Given the description of an element on the screen output the (x, y) to click on. 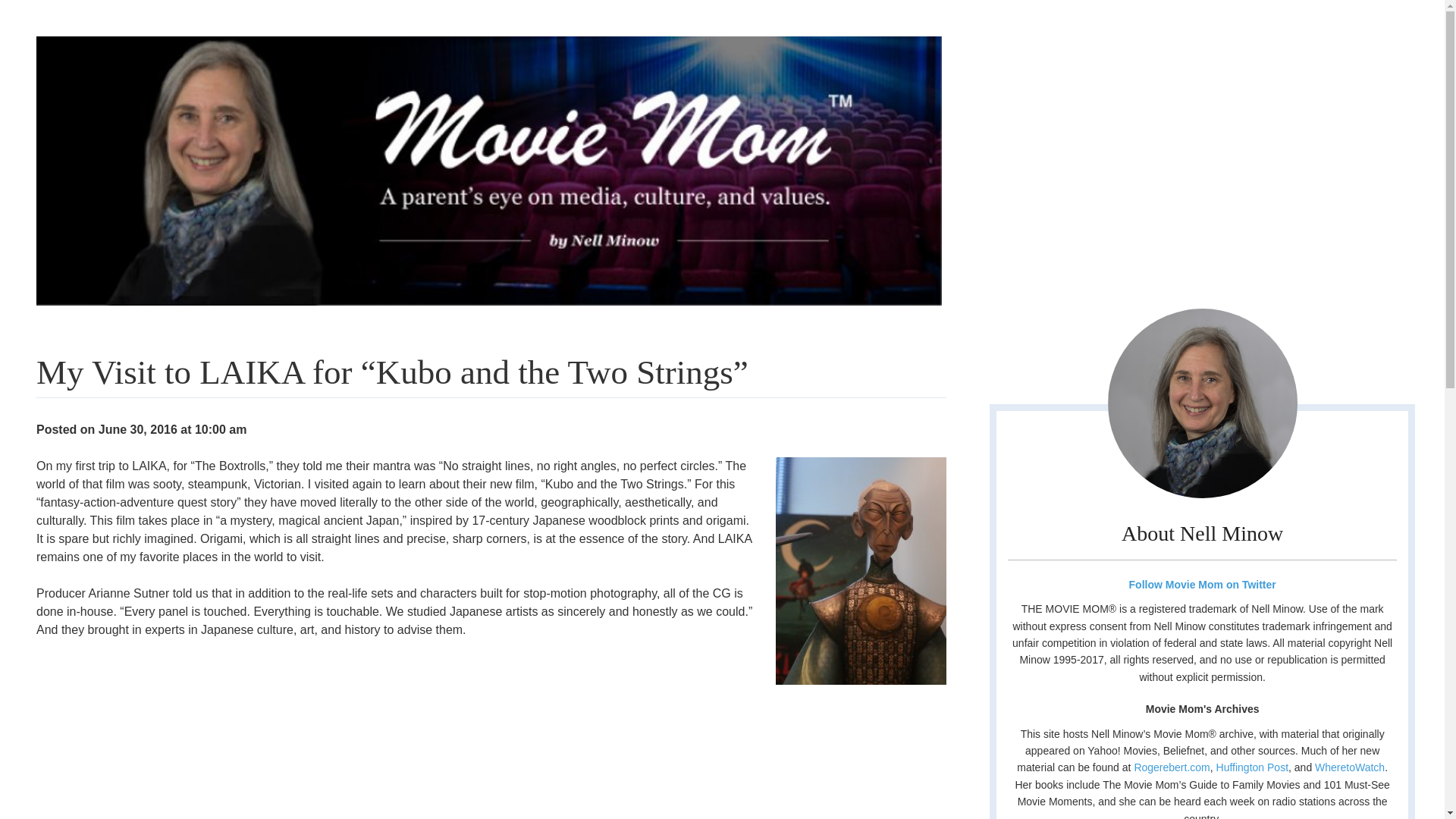
Follow Movie Mom on Twitter (1201, 584)
YouTube player (234, 738)
Huffington Post (1251, 767)
Rogerebert.com (1171, 767)
WheretoWatch (1349, 767)
